Given the description of an element on the screen output the (x, y) to click on. 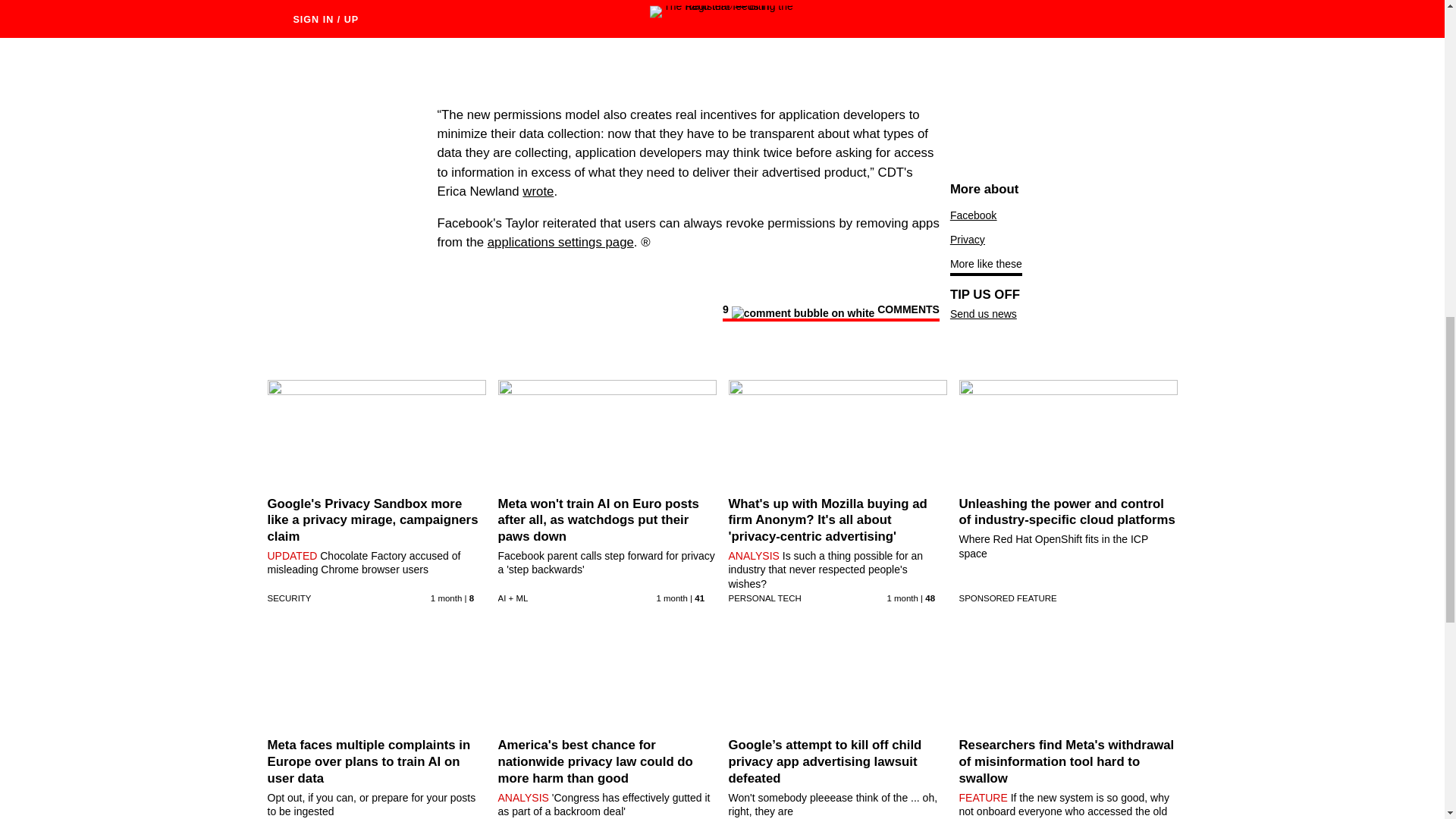
18 Jun 2024 19:32 (901, 597)
14 Jun 2024 20:46 (671, 597)
13 Jun 2024 13:30 (445, 597)
View comments on this article (830, 312)
